Given the description of an element on the screen output the (x, y) to click on. 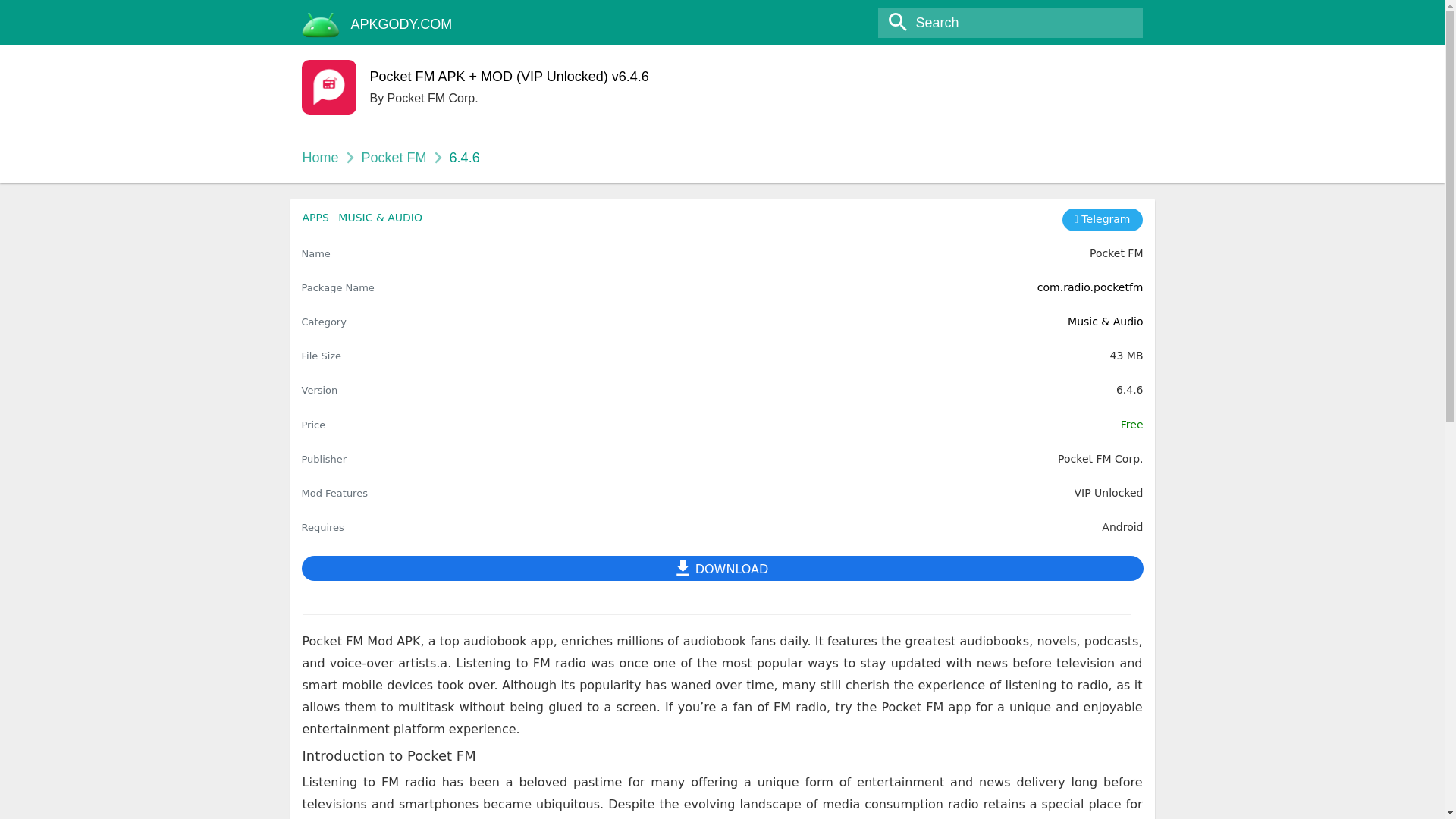
DOWNLOAD (721, 568)
APPS (315, 217)
APKGODY.COM (401, 23)
APKGODY.COM (401, 23)
Home (319, 157)
GO (18, 13)
Telegram (1102, 219)
Pocket FM (393, 157)
